Given the description of an element on the screen output the (x, y) to click on. 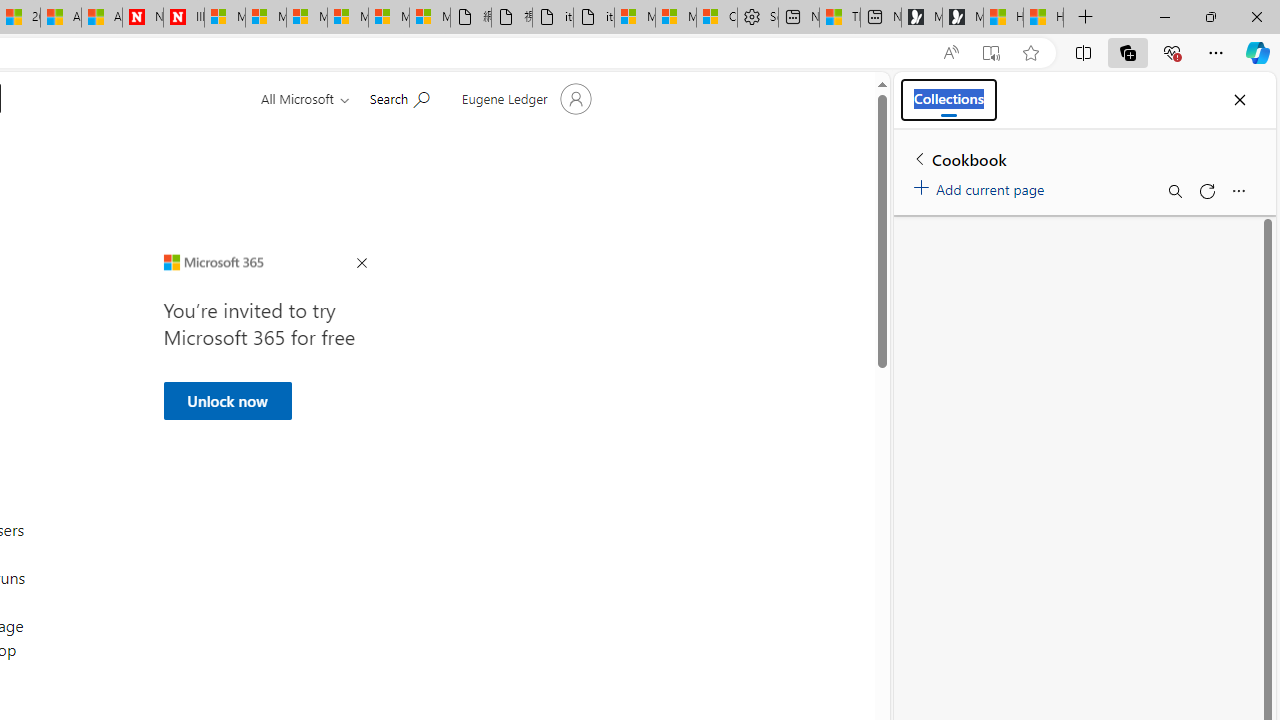
Consumer Health Data Privacy Policy (717, 17)
